Given the description of an element on the screen output the (x, y) to click on. 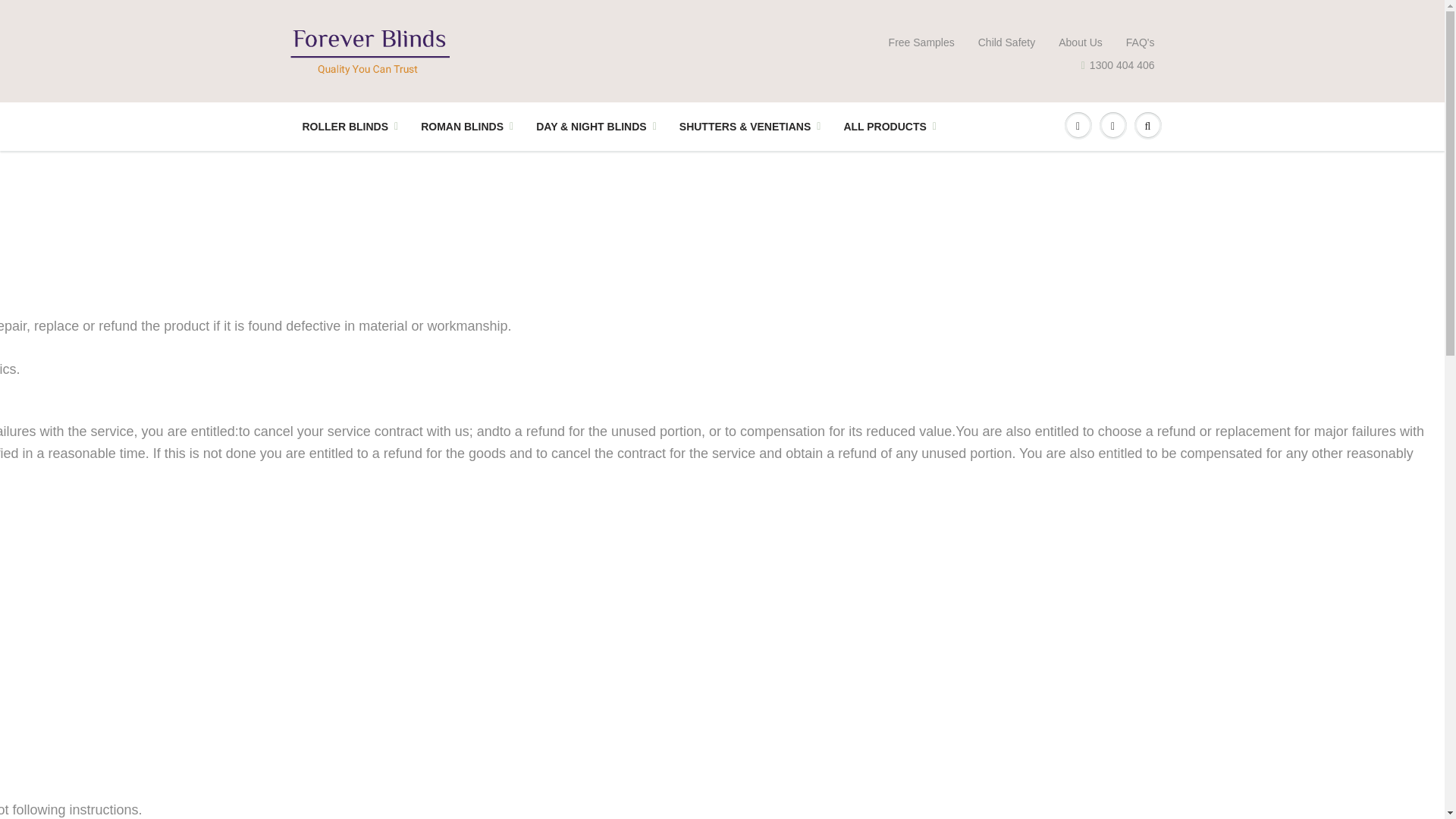
1300 404 406 (1117, 65)
ROMAN BLINDS (466, 126)
Child Safety (1006, 43)
About Us (1080, 43)
Free Samples (921, 43)
ROLLER BLINDS (350, 126)
ALL PRODUCTS (889, 126)
FAQ's (1139, 43)
